Given the description of an element on the screen output the (x, y) to click on. 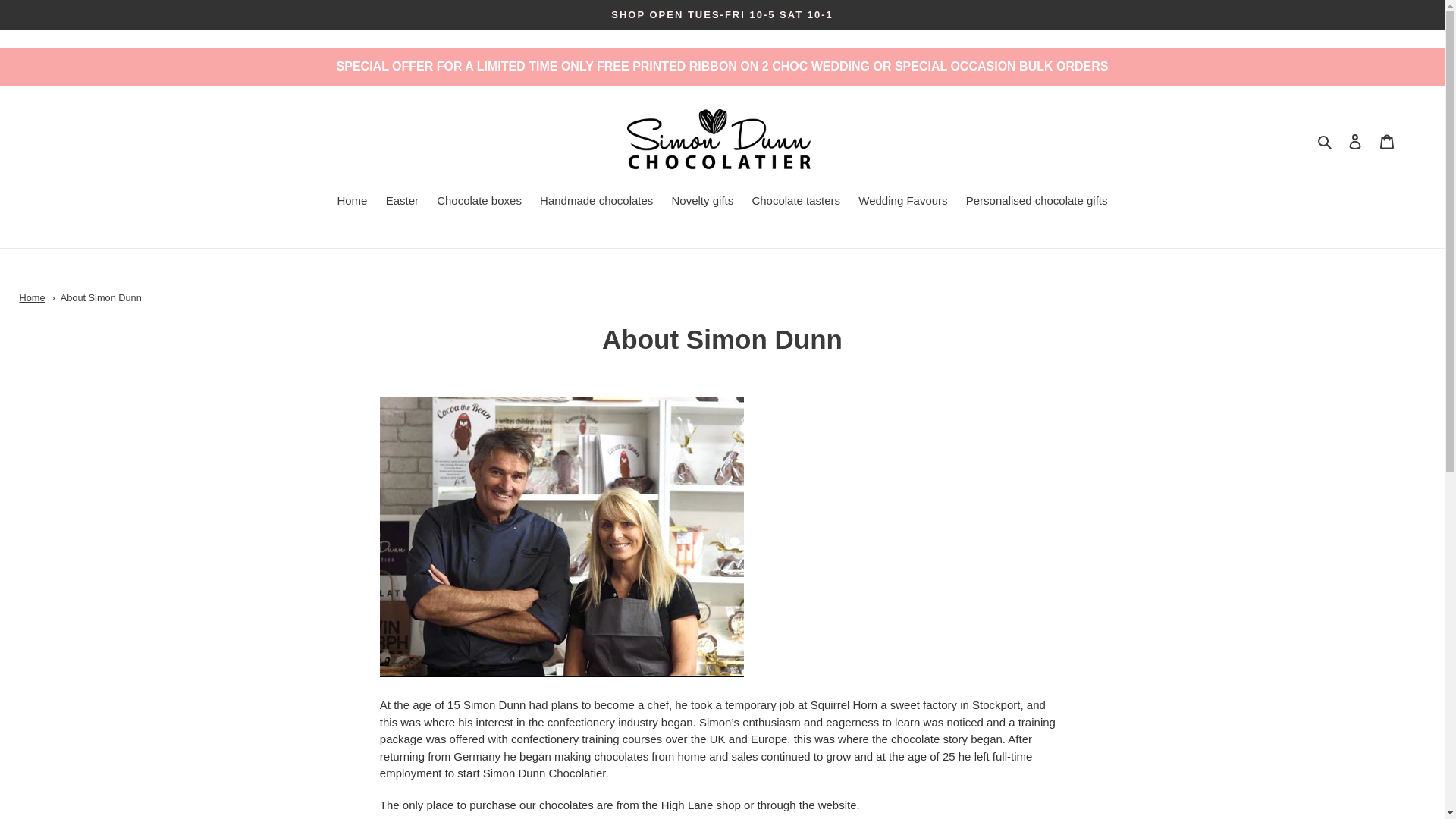
Personalised chocolate gifts (1036, 202)
Easter (402, 202)
Chocolate tasters (795, 202)
Home (32, 296)
Home (32, 296)
Home (351, 202)
Wedding Favours (902, 202)
Handmade chocolates (596, 202)
Novelty gifts (702, 202)
Search (1326, 140)
Log in (1355, 141)
About Simon Dunn (101, 296)
Chocolate boxes (479, 202)
Cart (1387, 141)
